Given the description of an element on the screen output the (x, y) to click on. 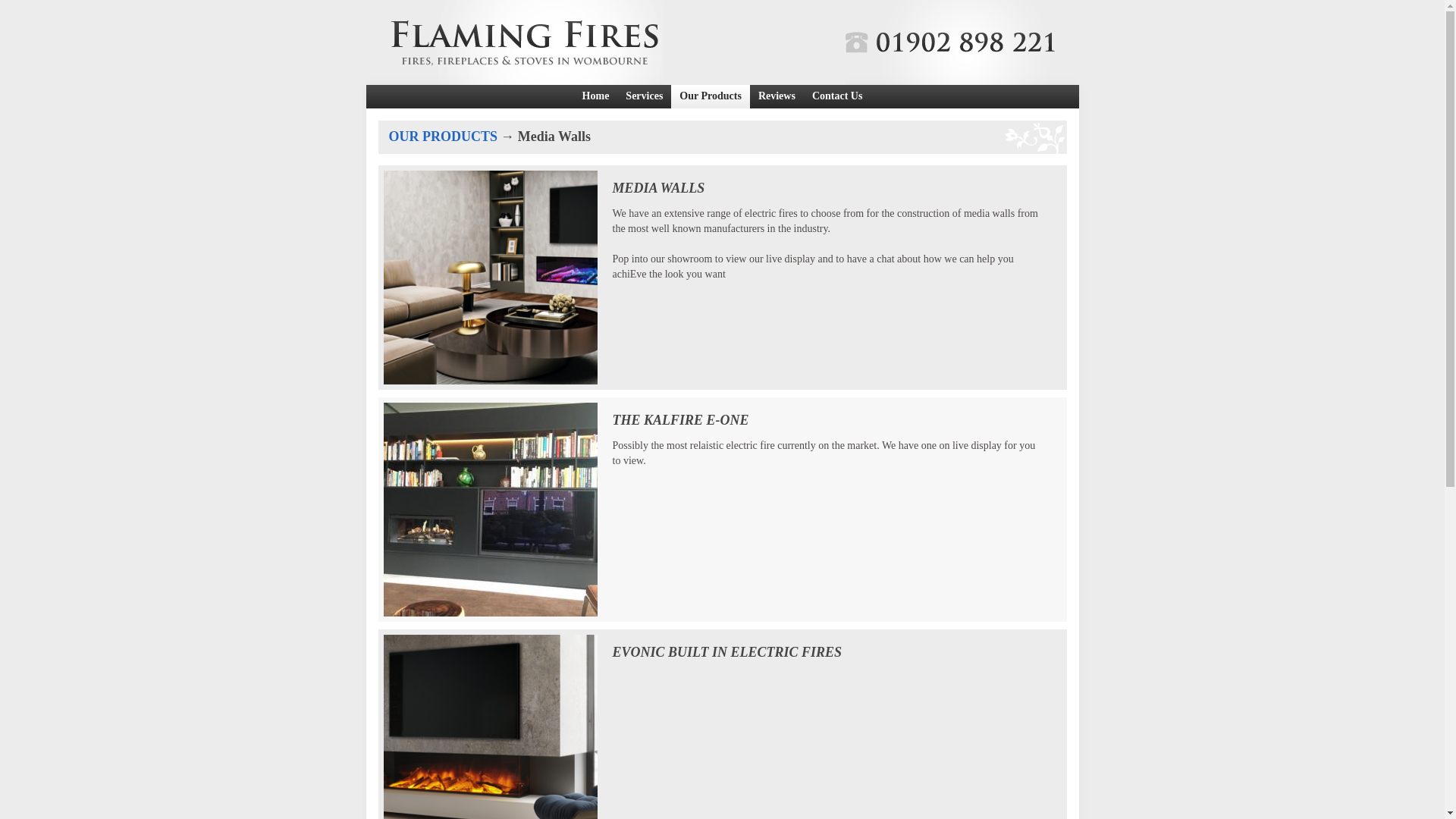
MEDIA WALLS (489, 277)
THE KALFIRE E-ONE (489, 509)
Our Products (710, 96)
EVONIC BUILT IN ELECTRIC FIRES (489, 724)
OUR PRODUCTS (442, 136)
Home (595, 96)
Reviews (776, 96)
Contact Us (836, 96)
Services (644, 96)
